Given the description of an element on the screen output the (x, y) to click on. 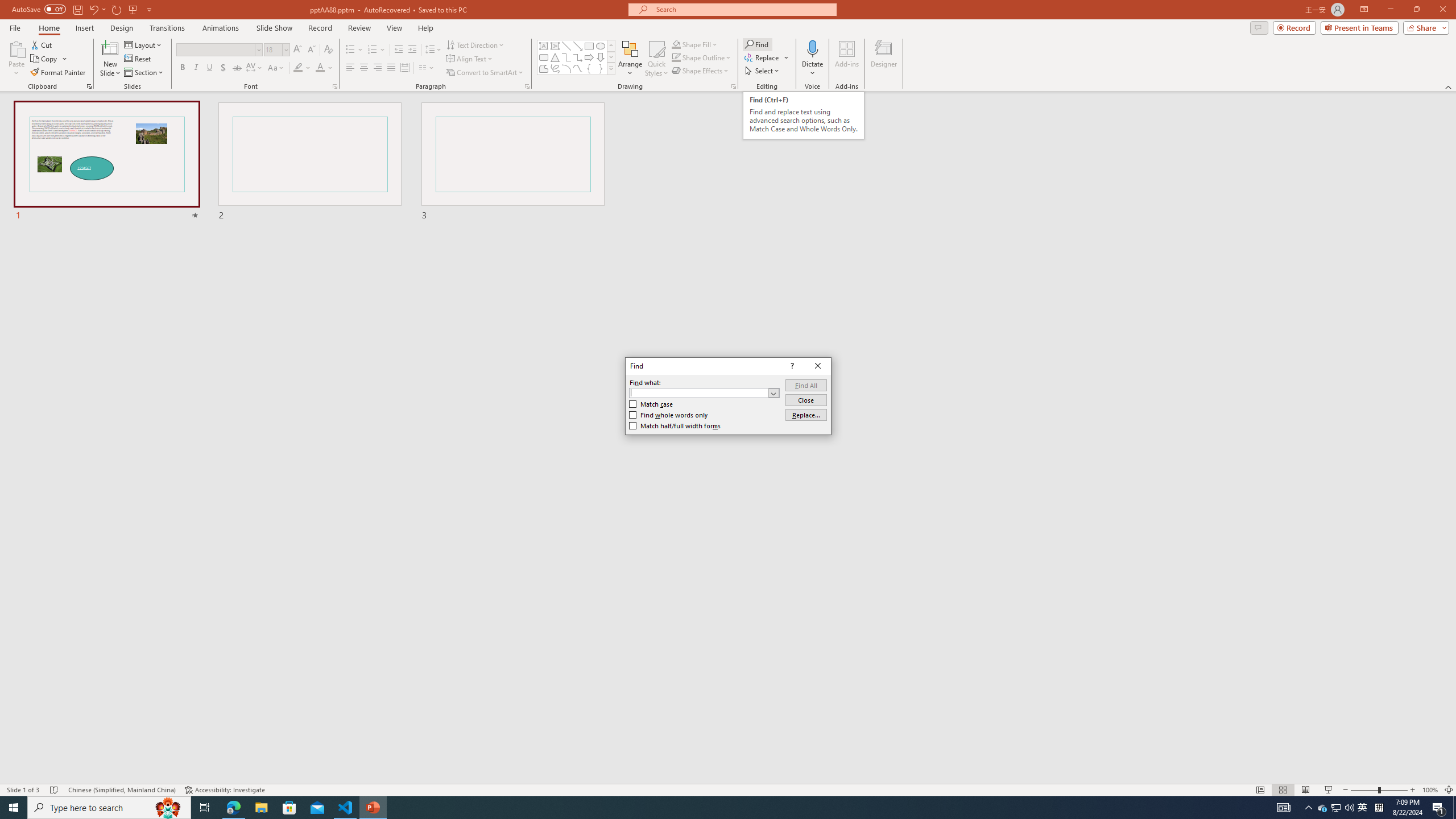
Running applications (700, 807)
Context help (1322, 807)
